Given the description of an element on the screen output the (x, y) to click on. 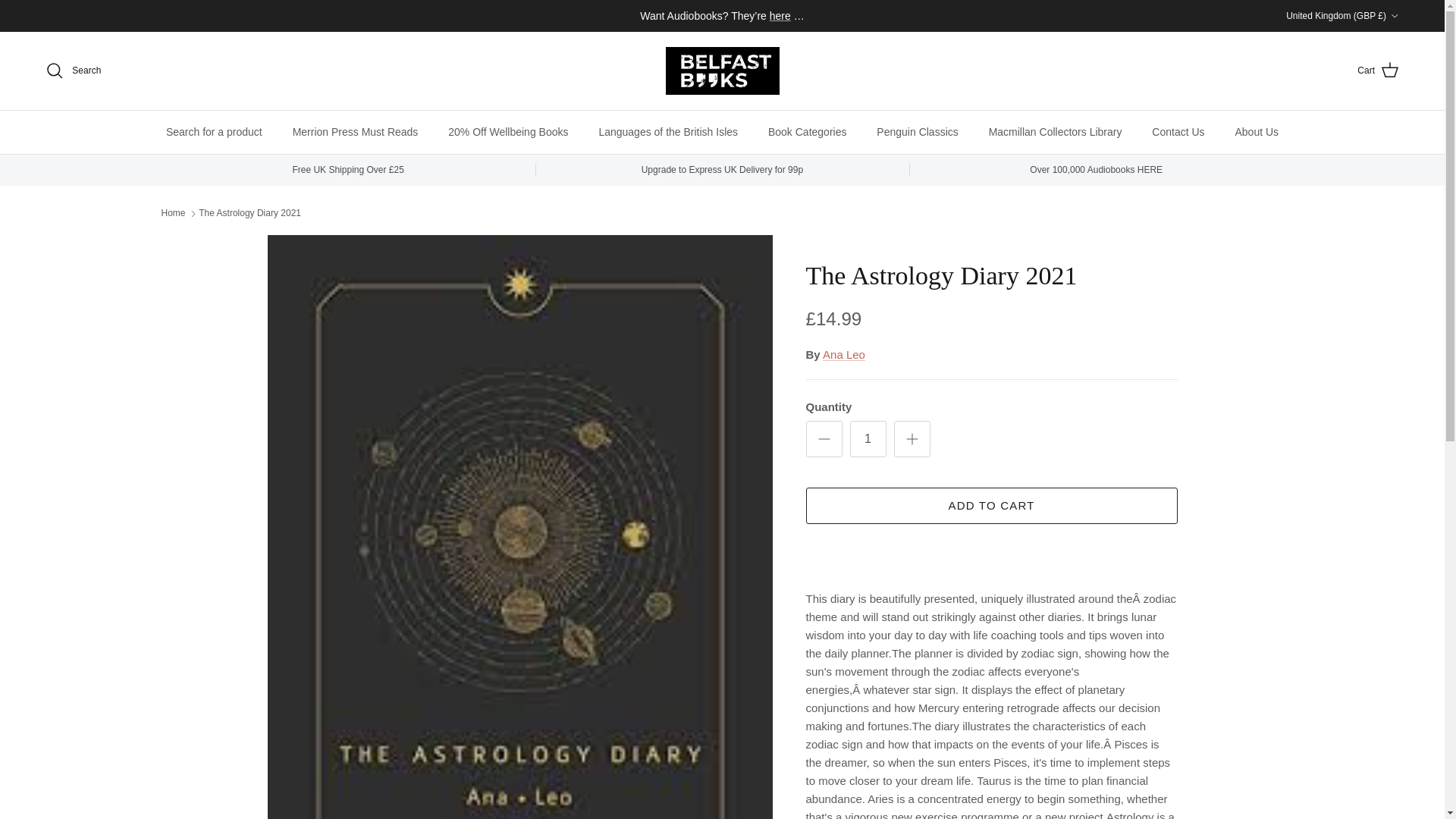
Search for a product (214, 131)
Languages of the British Isles (668, 131)
Macmillan Collectors Library (1055, 131)
Cart (1377, 70)
here (780, 15)
About Us (1256, 131)
1 (866, 438)
Belfast Books (721, 70)
Merrion Press Must Reads (355, 131)
Contact Us (1177, 131)
Penguin Classics (917, 131)
Book Categories (807, 131)
Search (72, 70)
